Given the description of an element on the screen output the (x, y) to click on. 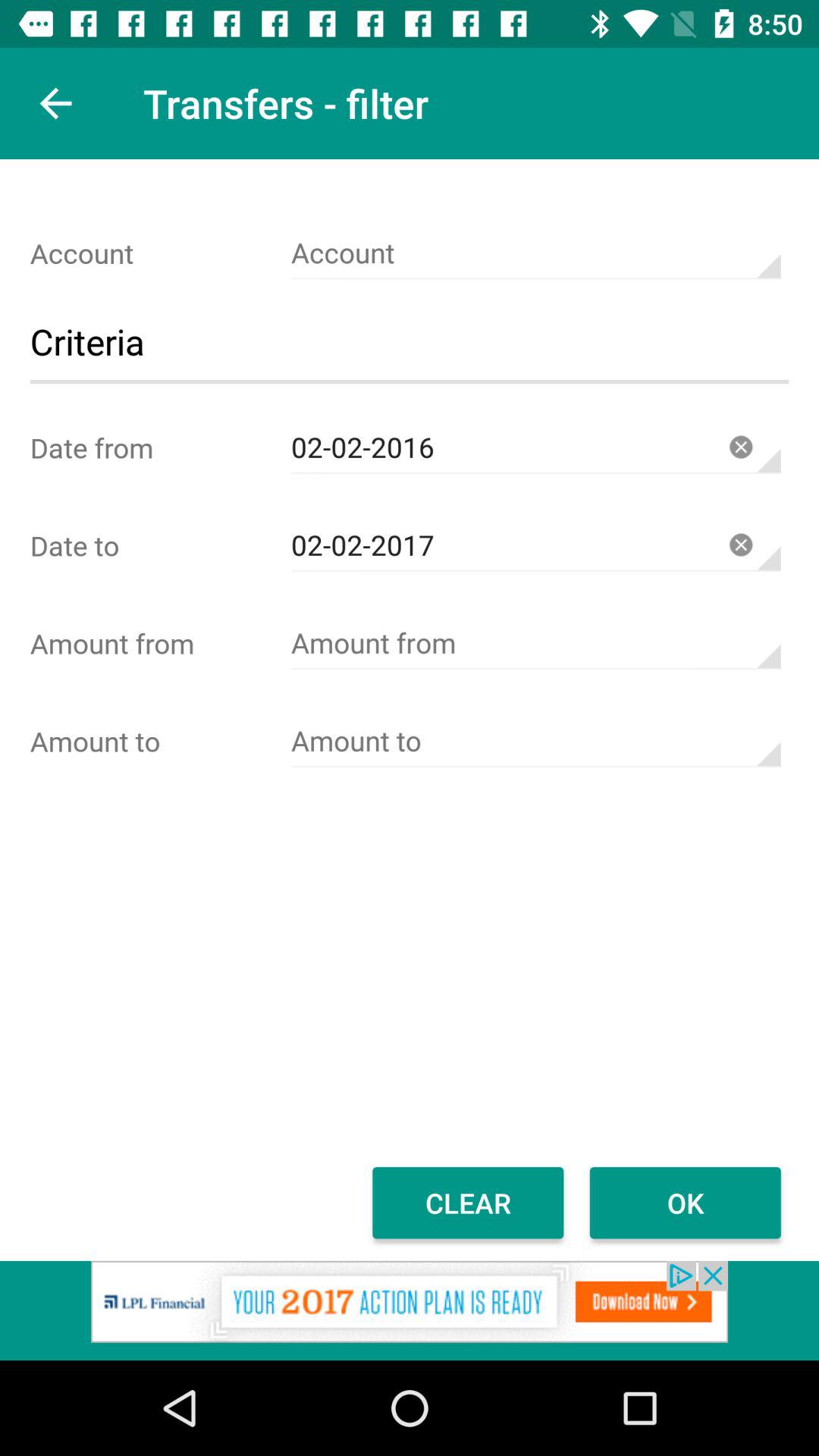
form field to (535, 741)
